Given the description of an element on the screen output the (x, y) to click on. 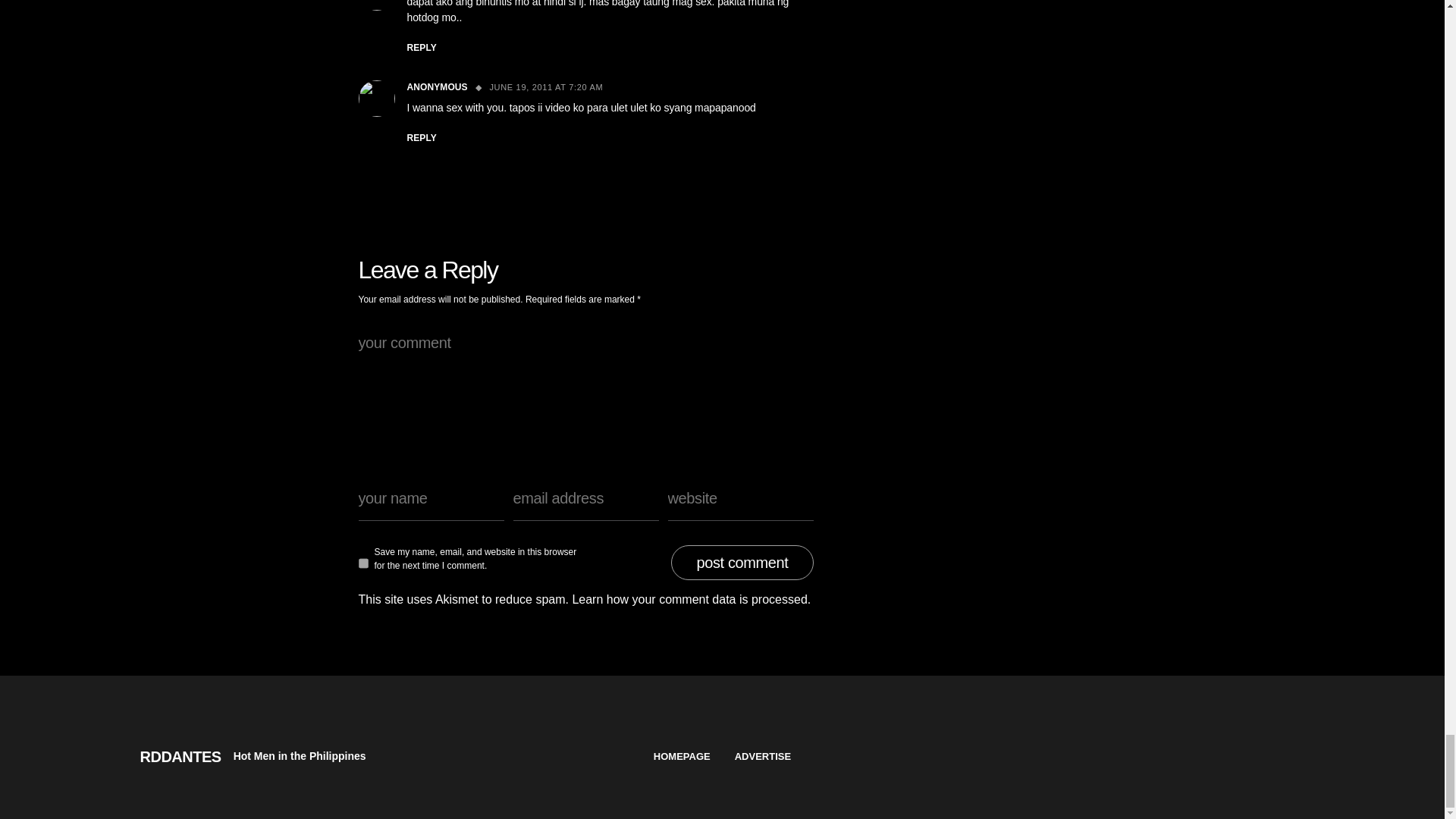
Post Comment (741, 562)
